Given the description of an element on the screen output the (x, y) to click on. 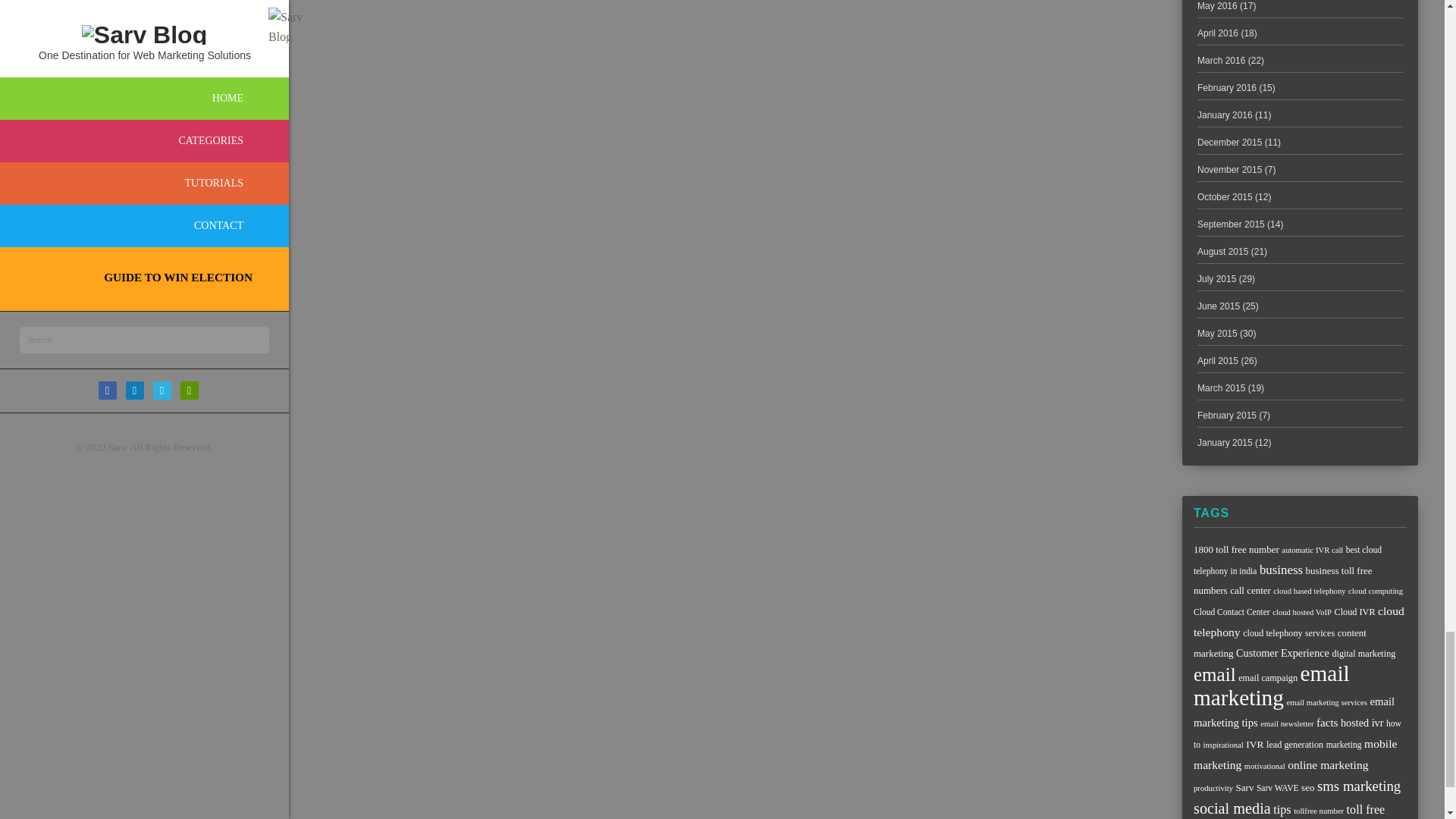
8 topics (1375, 591)
11 topics (1282, 580)
11 topics (1250, 590)
10 topics (1289, 633)
8 topics (1308, 591)
9 topics (1287, 560)
9 topics (1231, 611)
8 topics (1311, 550)
16 topics (1299, 621)
10 topics (1353, 611)
